Given the description of an element on the screen output the (x, y) to click on. 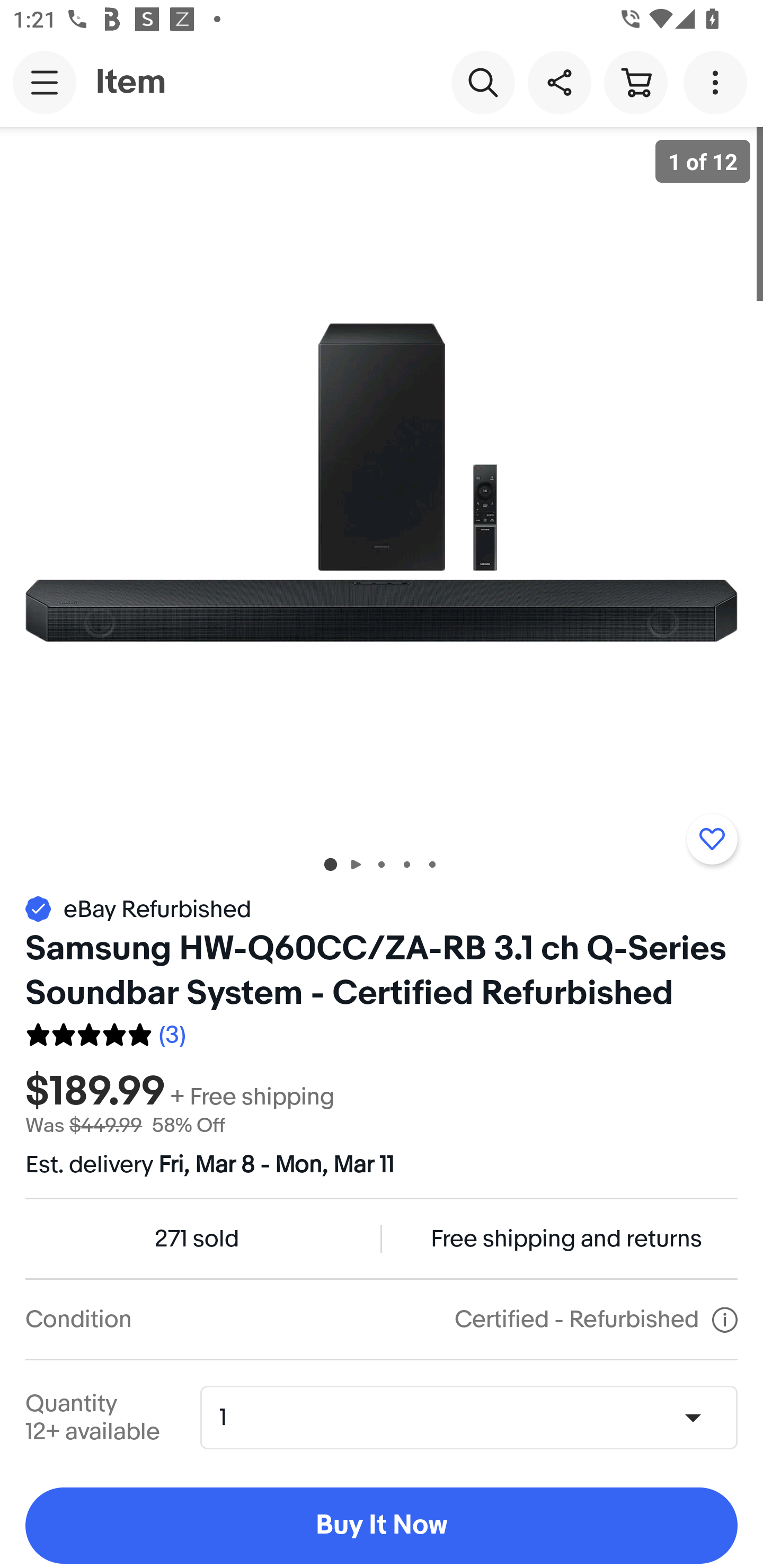
Main navigation, open (44, 82)
Search (482, 81)
Share this item (559, 81)
Cart button shopping cart (635, 81)
More options (718, 81)
Item image 1 of 12 (381, 482)
Add to watchlist (711, 838)
3 reviews. Average rating 5.0 out of five 10.0 (3) (105, 1031)
Quantity,1,12+ available 1 (474, 1417)
Buy It Now (381, 1525)
